Given the description of an element on the screen output the (x, y) to click on. 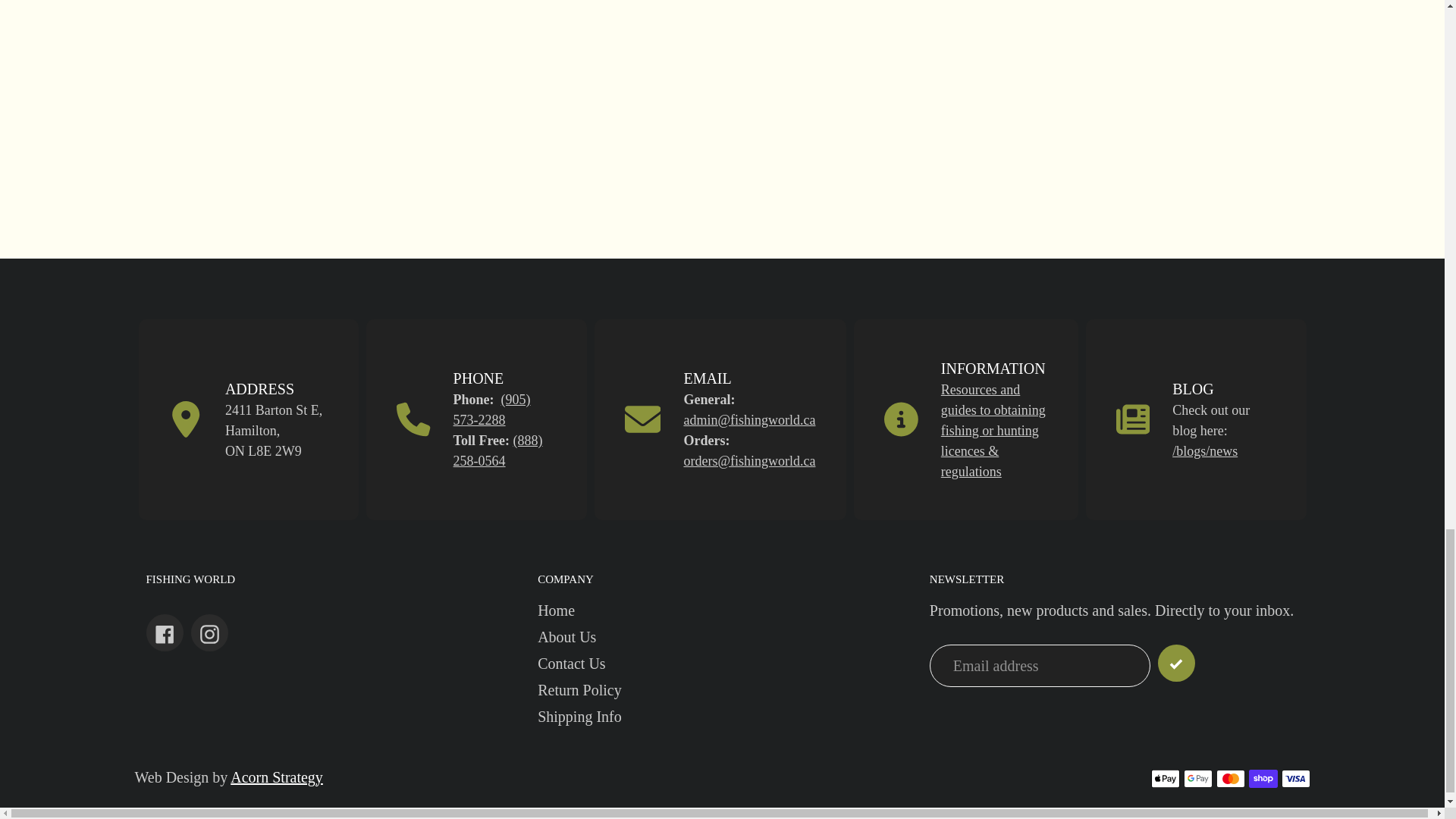
Information (992, 430)
Blog (1204, 450)
